Given the description of an element on the screen output the (x, y) to click on. 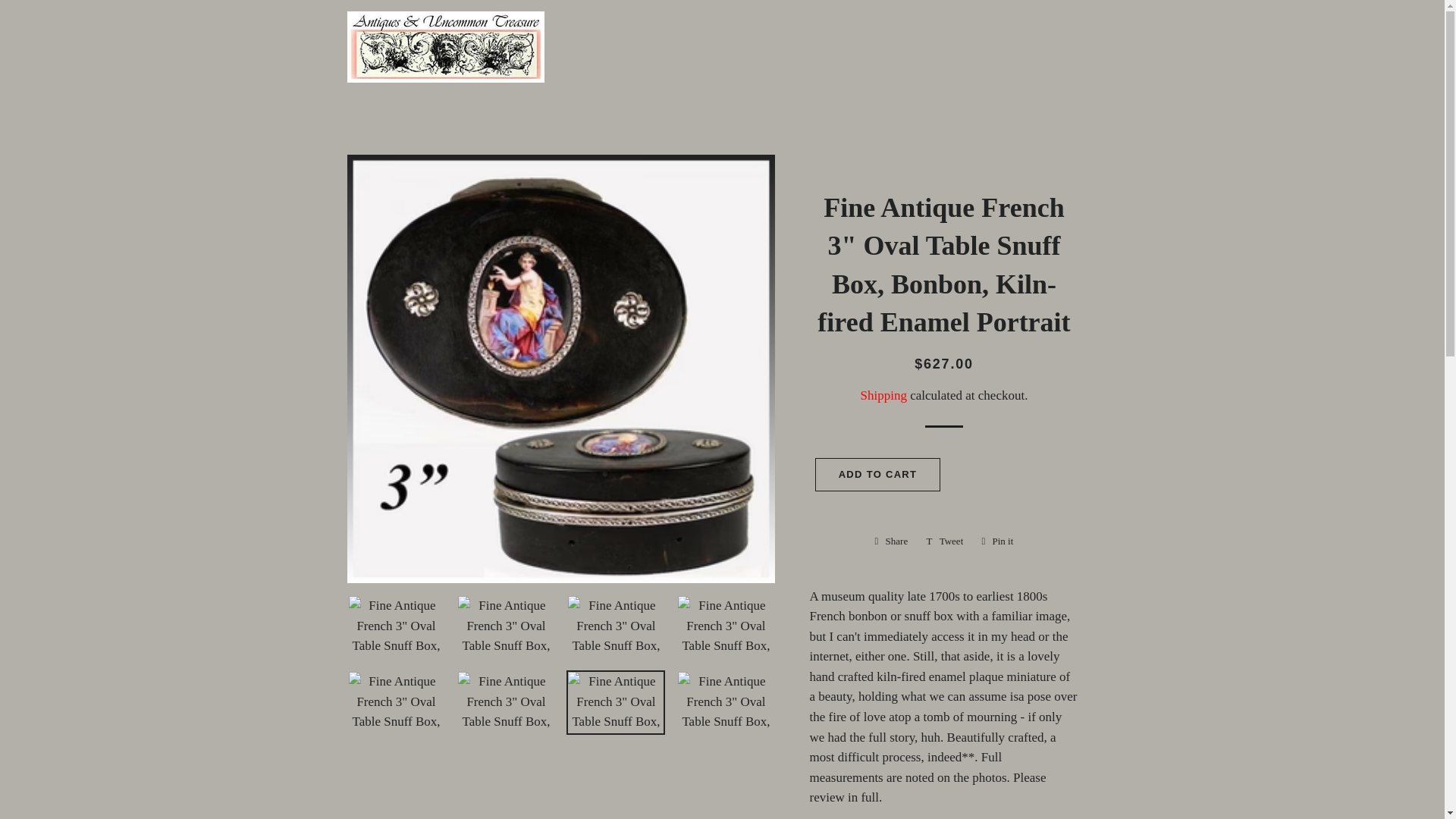
Shipping (891, 540)
ADD TO CART (882, 395)
Share on Facebook (877, 474)
Tweet on Twitter (891, 540)
Pin on Pinterest (997, 540)
